Given the description of an element on the screen output the (x, y) to click on. 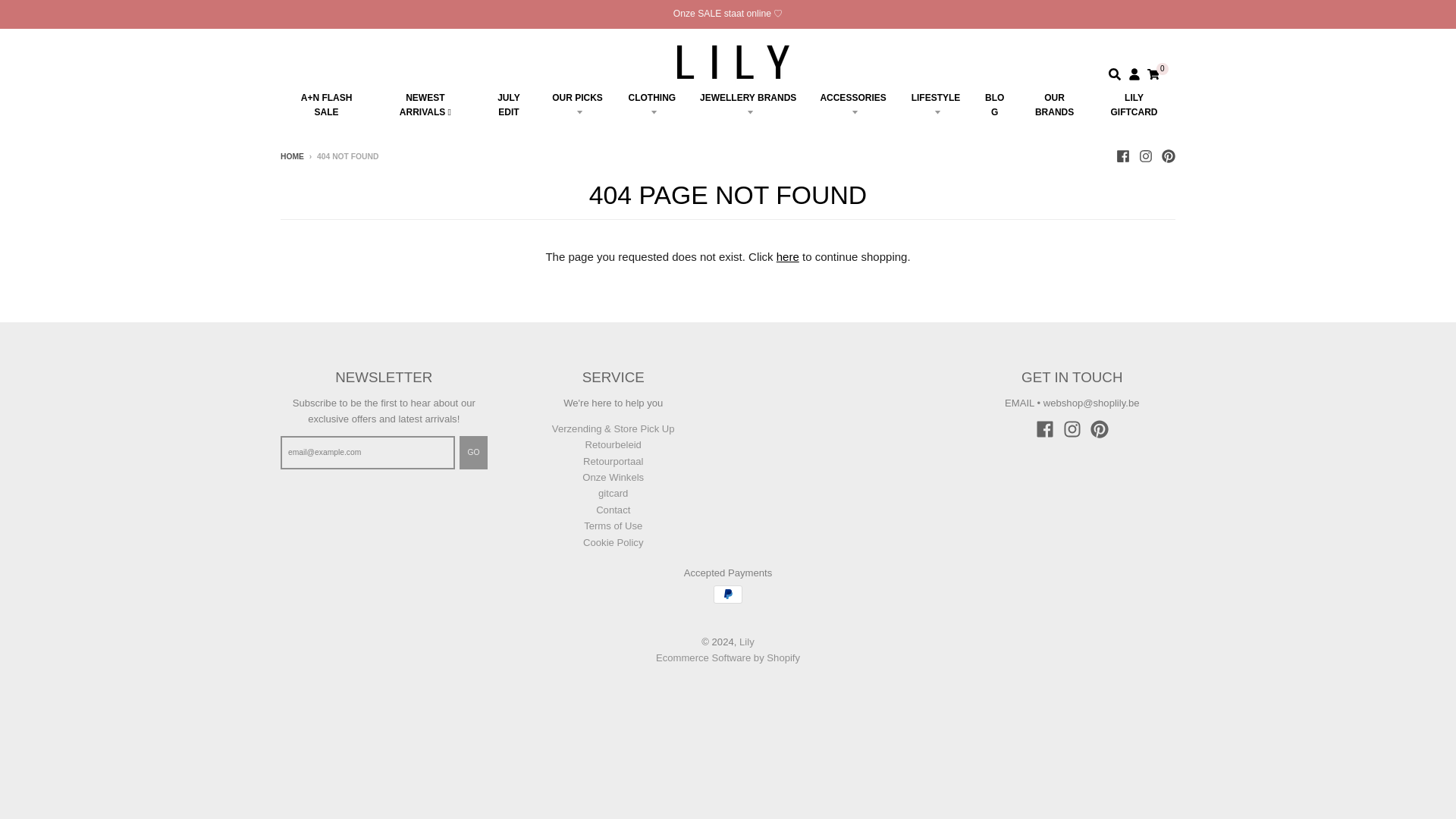
Pinterest - Lily (1167, 155)
Instagram - Lily (1071, 429)
Back to the frontpage (292, 156)
Facebook - Lily (1122, 155)
OUR PICKS (576, 104)
0 (1152, 73)
Instagram - Lily (1145, 155)
CLOTHING (651, 104)
Pinterest - Lily (1099, 429)
JULY EDIT (509, 104)
Facebook - Lily (1044, 429)
